Given the description of an element on the screen output the (x, y) to click on. 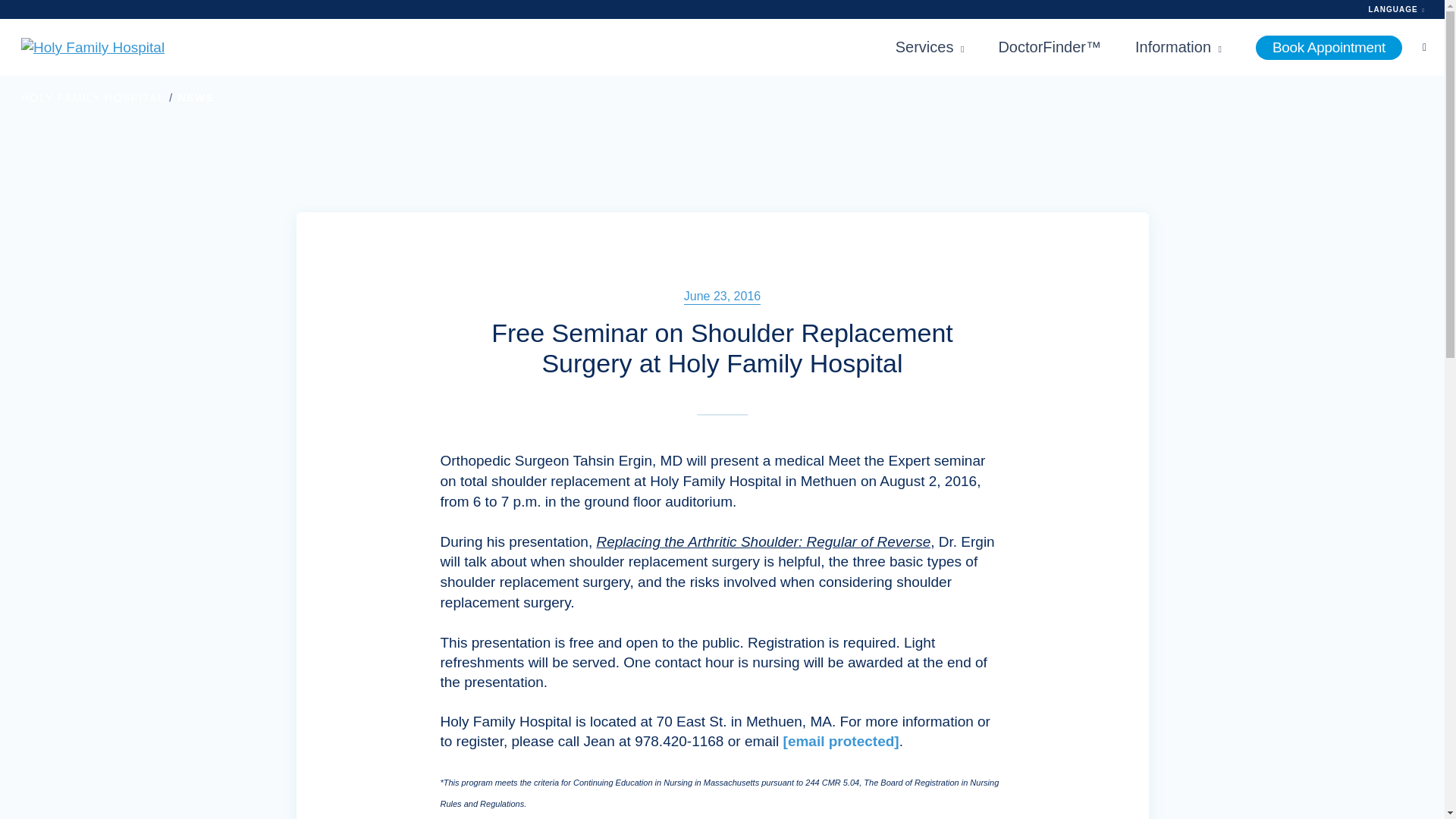
Book Appointment (1328, 47)
Information (1178, 46)
NEWS (195, 97)
Services (929, 46)
